Given the description of an element on the screen output the (x, y) to click on. 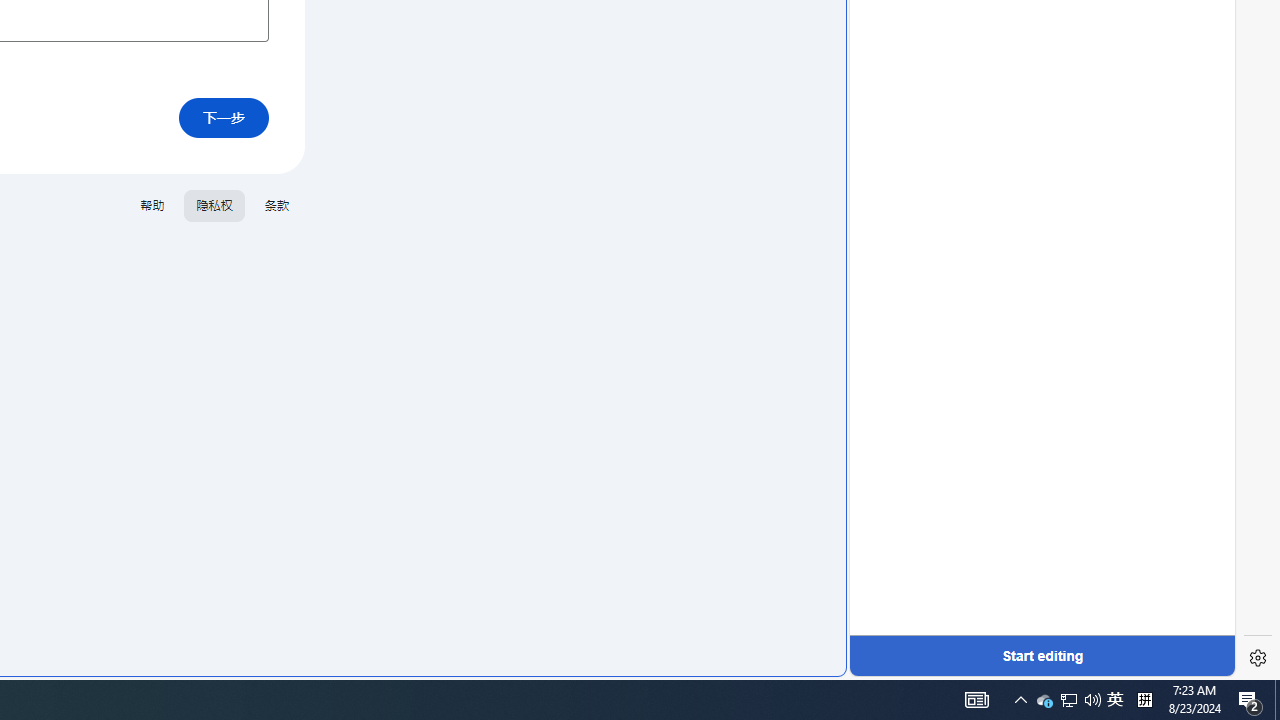
Start editing (1042, 655)
